Given the description of an element on the screen output the (x, y) to click on. 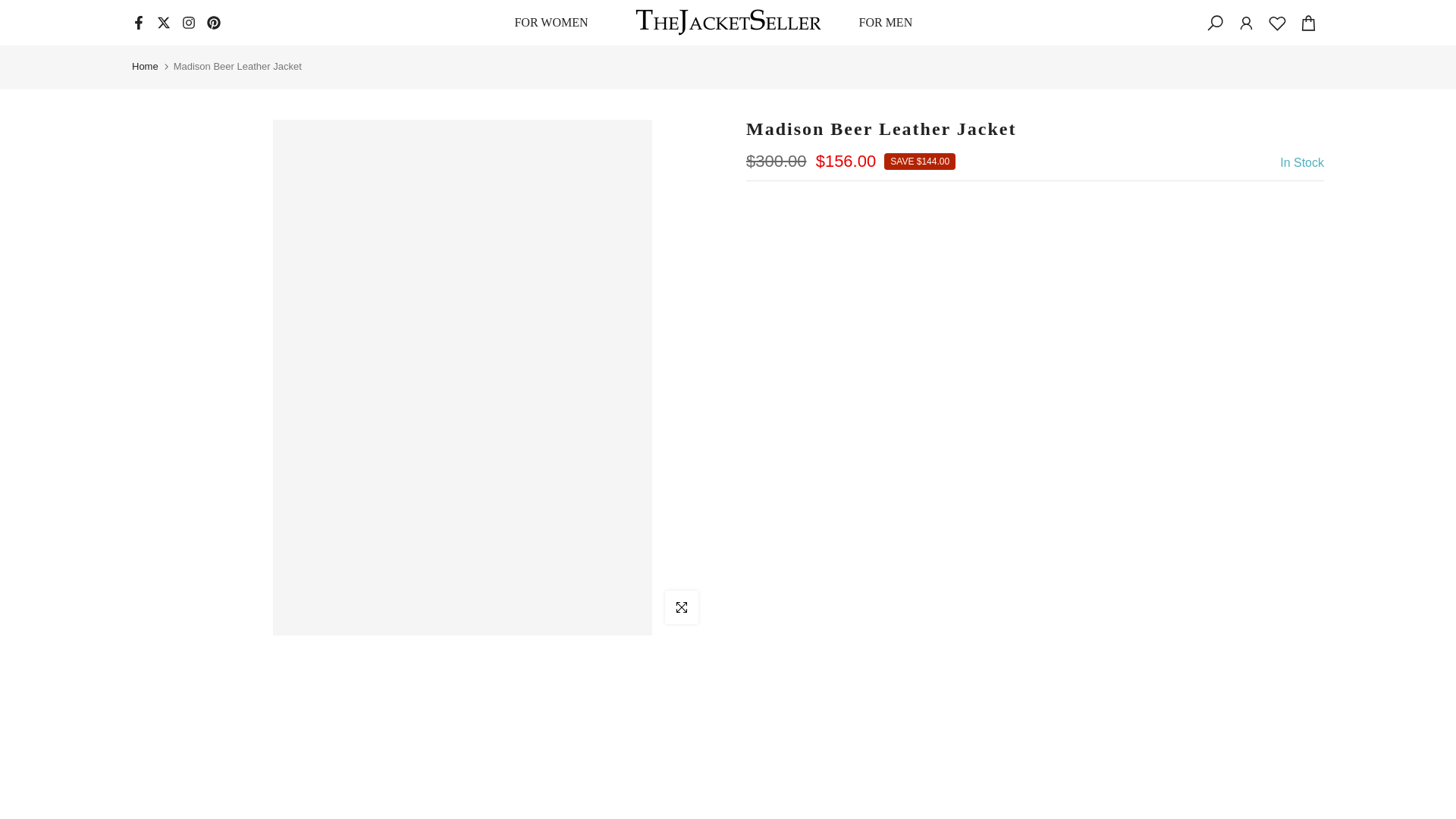
FOR WOMEN (555, 22)
Home (145, 66)
Skip to content (10, 7)
FOR MEN (889, 22)
